Given the description of an element on the screen output the (x, y) to click on. 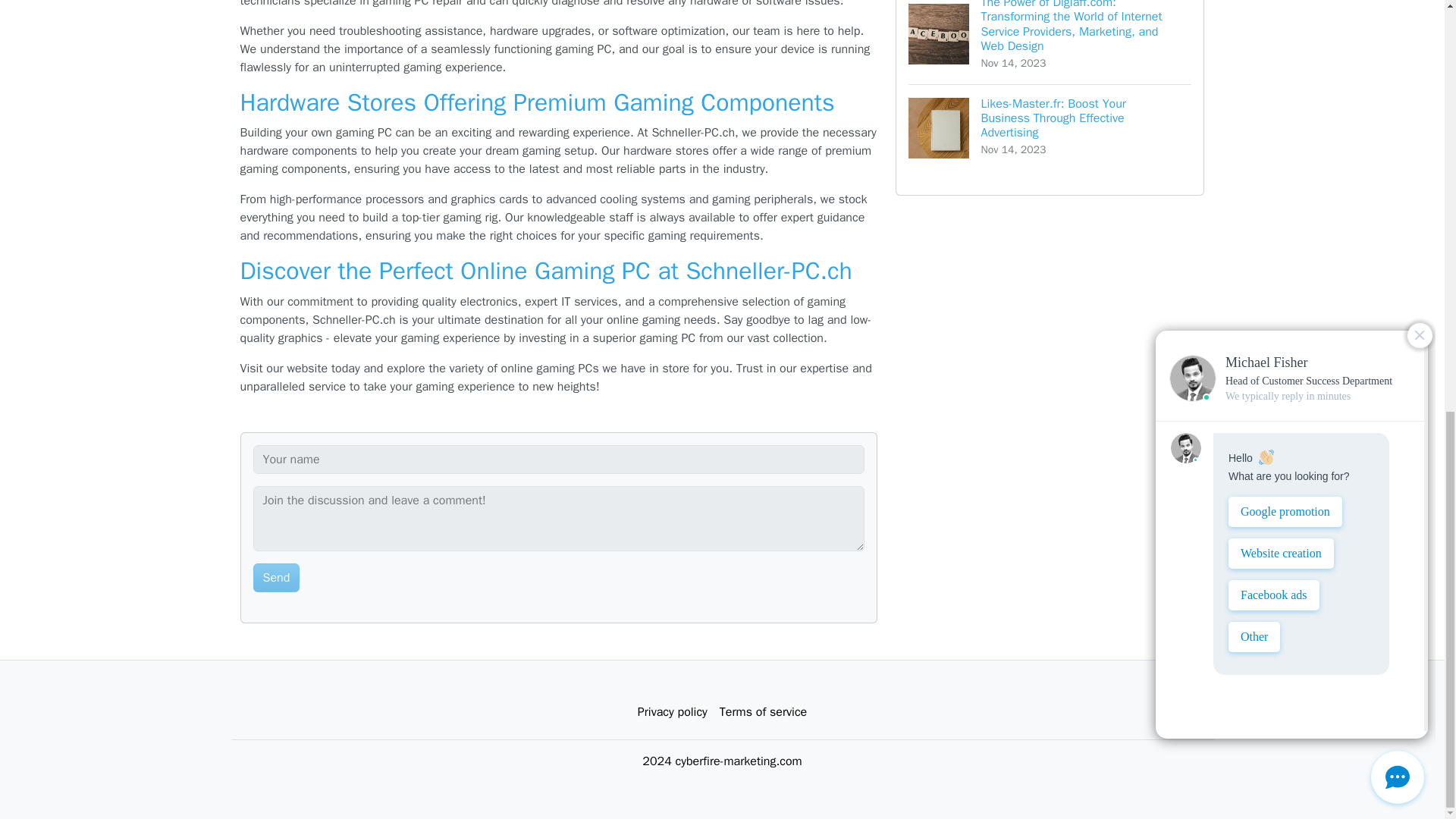
Privacy policy (672, 711)
Send (276, 577)
Terms of service (762, 711)
Send (276, 577)
